Given the description of an element on the screen output the (x, y) to click on. 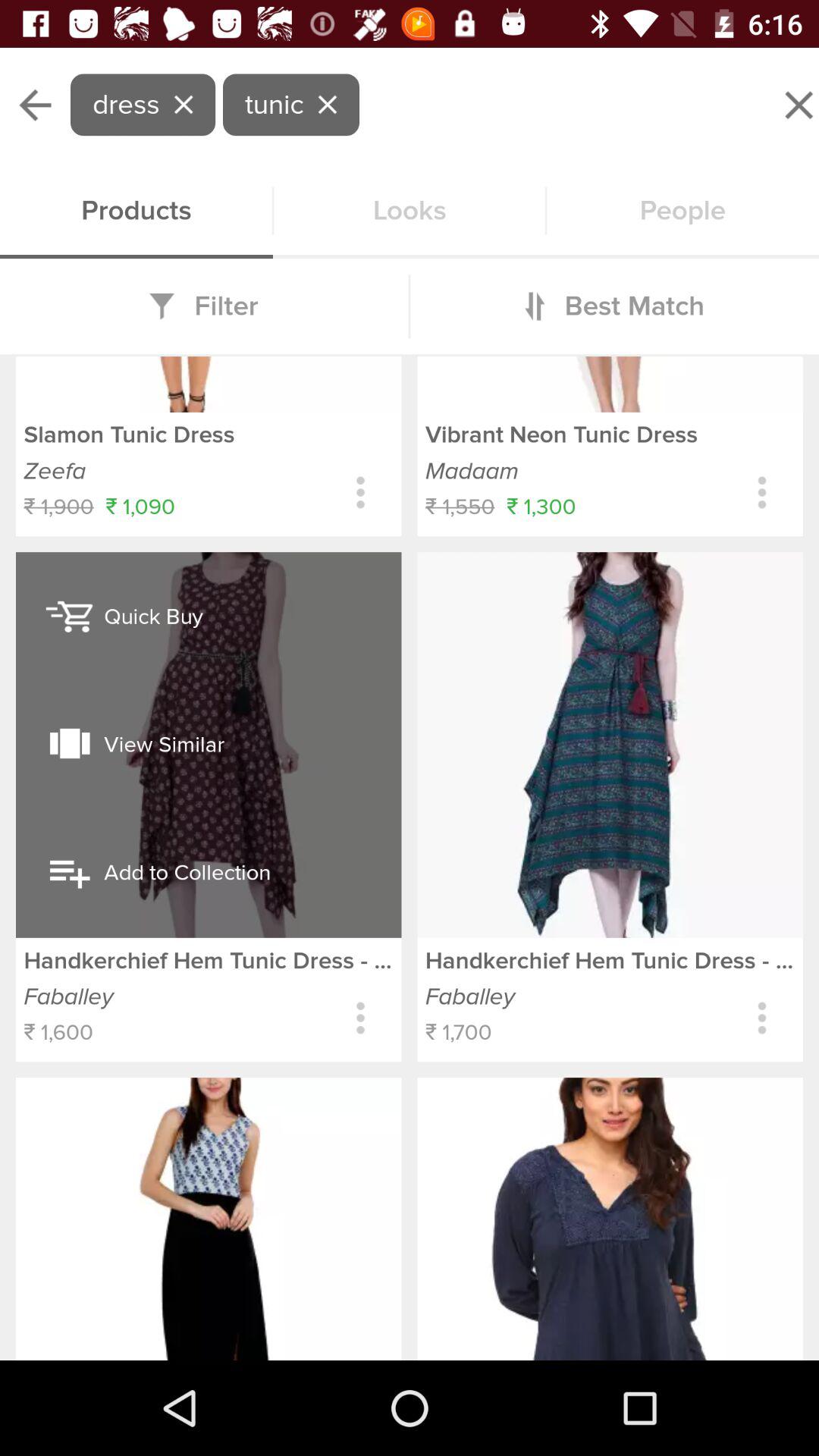
file details and other option include (762, 1017)
